Given the description of an element on the screen output the (x, y) to click on. 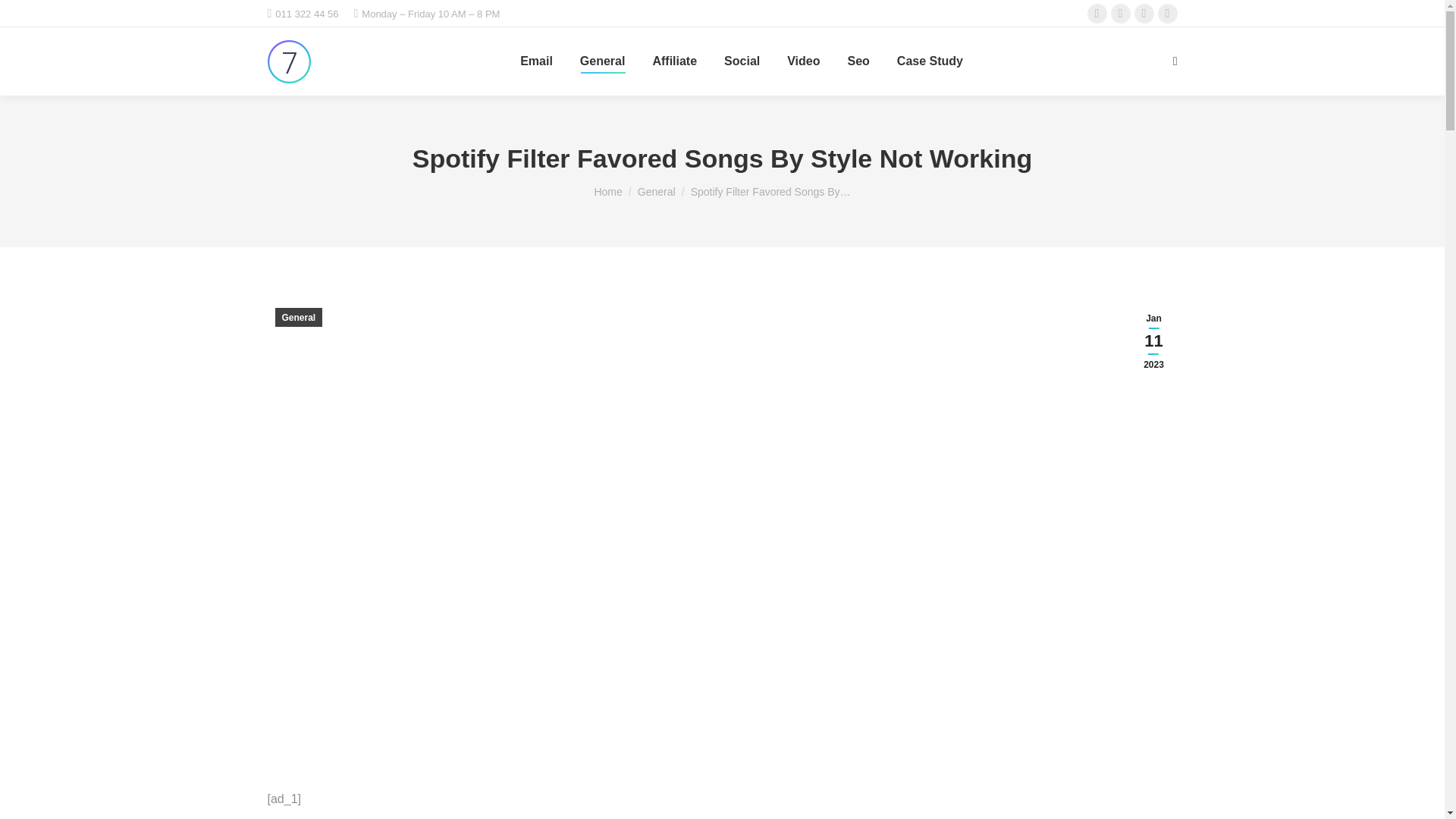
Instagram page opens in new window (1144, 13)
Social (741, 60)
Facebook page opens in new window (1096, 13)
Twitter page opens in new window (1120, 13)
YouTube page opens in new window (1167, 13)
Affiliate (674, 60)
Video (803, 60)
Twitter page opens in new window (1120, 13)
General (602, 60)
Facebook page opens in new window (1096, 13)
